Given the description of an element on the screen output the (x, y) to click on. 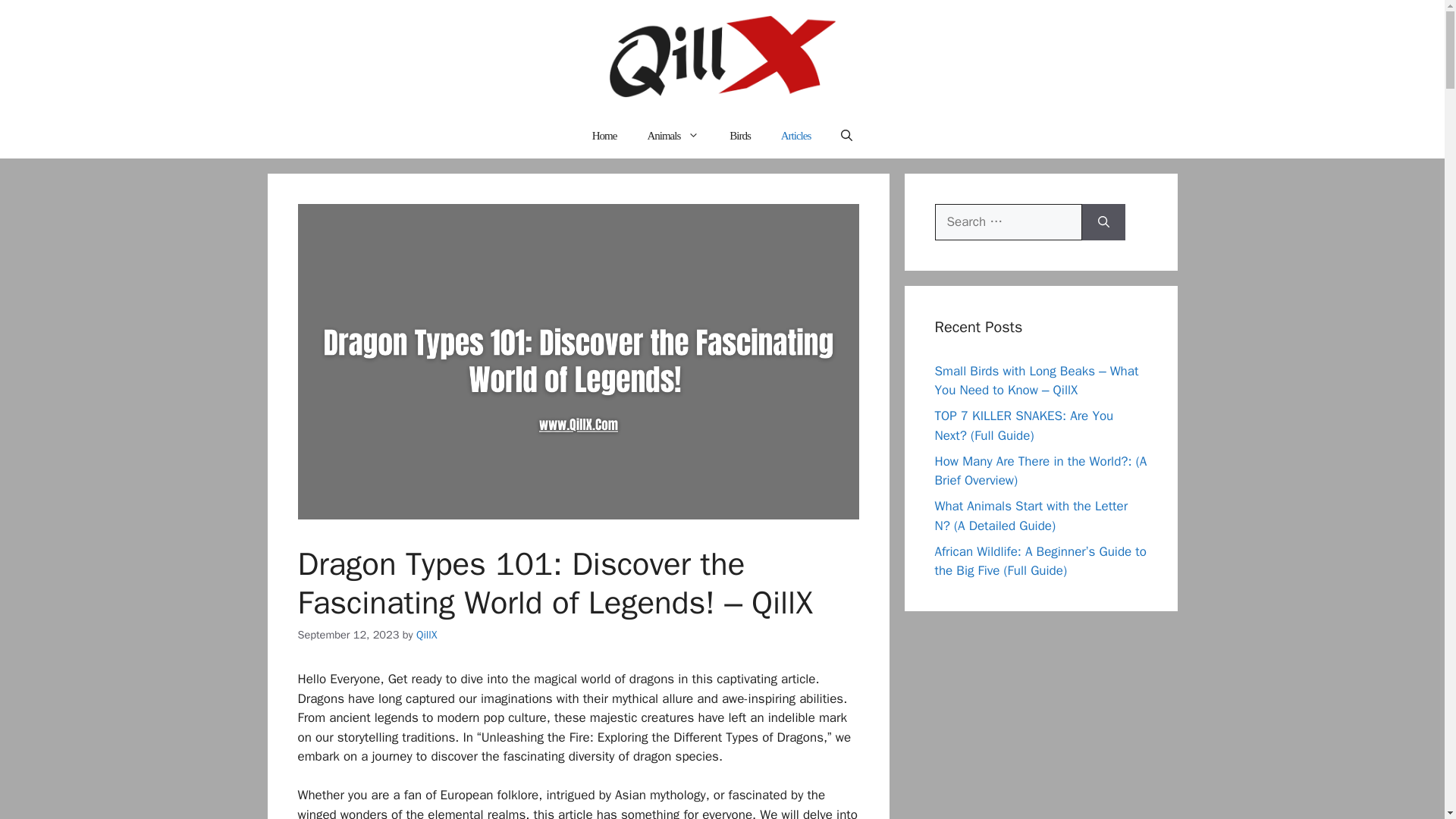
Animals (672, 135)
View all posts by QillX (427, 634)
Home (603, 135)
QillX (427, 634)
Birds (739, 135)
Articles (795, 135)
